Given the description of an element on the screen output the (x, y) to click on. 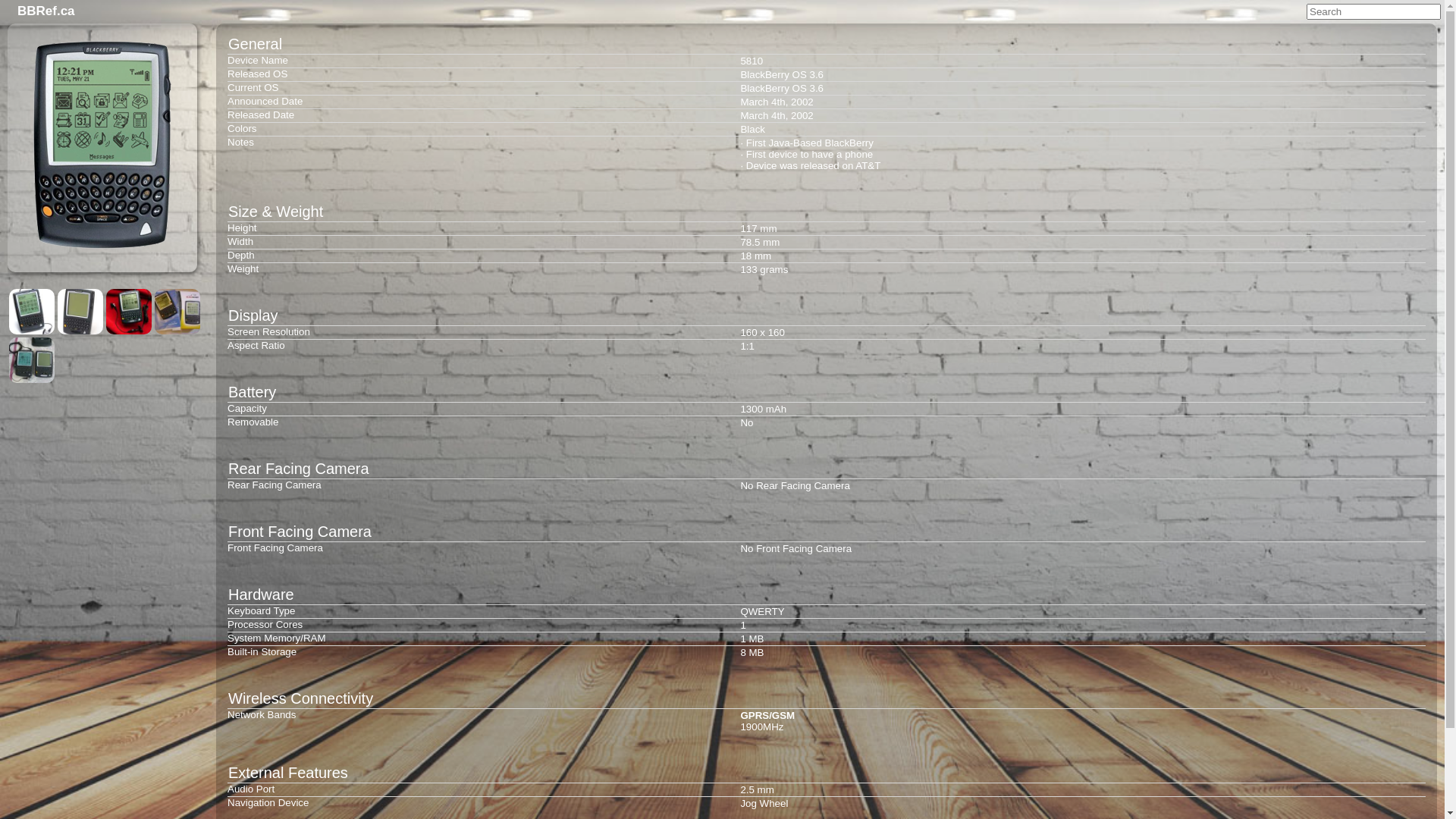
03 Element type: hover (128, 311)
04 Element type: hover (177, 311)
BBRef.ca Element type: text (46, 10)
02 Element type: hover (80, 311)
01 Element type: hover (31, 311)
05 Element type: hover (31, 359)
